Given the description of an element on the screen output the (x, y) to click on. 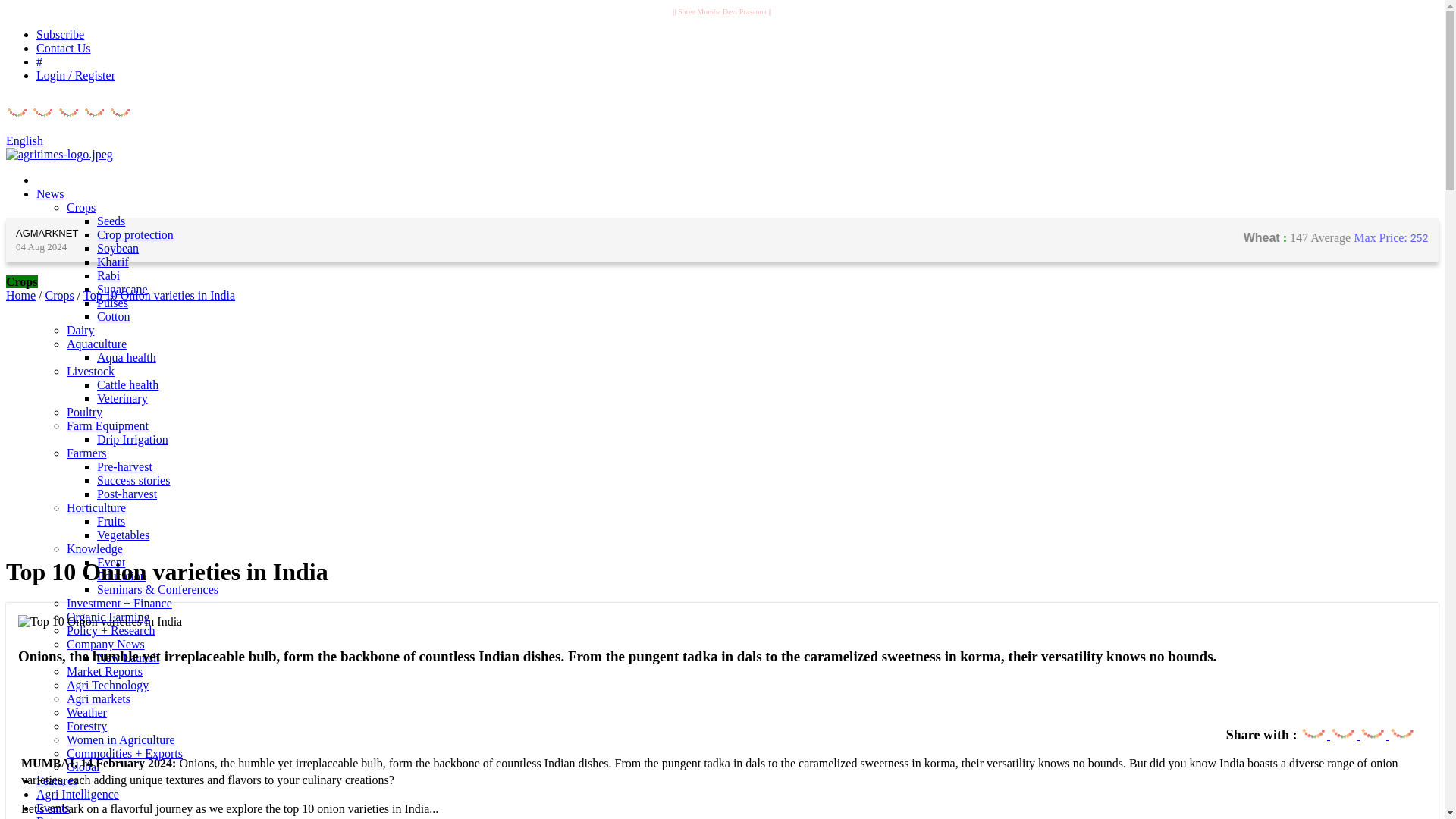
Aquaculture (96, 343)
Aqua health (126, 357)
Kharif (113, 261)
Sugarcane (122, 288)
Facebook (1313, 725)
Crops (81, 206)
Linkedin (1402, 725)
Pulses (112, 302)
Pre-harvest (124, 466)
